Given the description of an element on the screen output the (x, y) to click on. 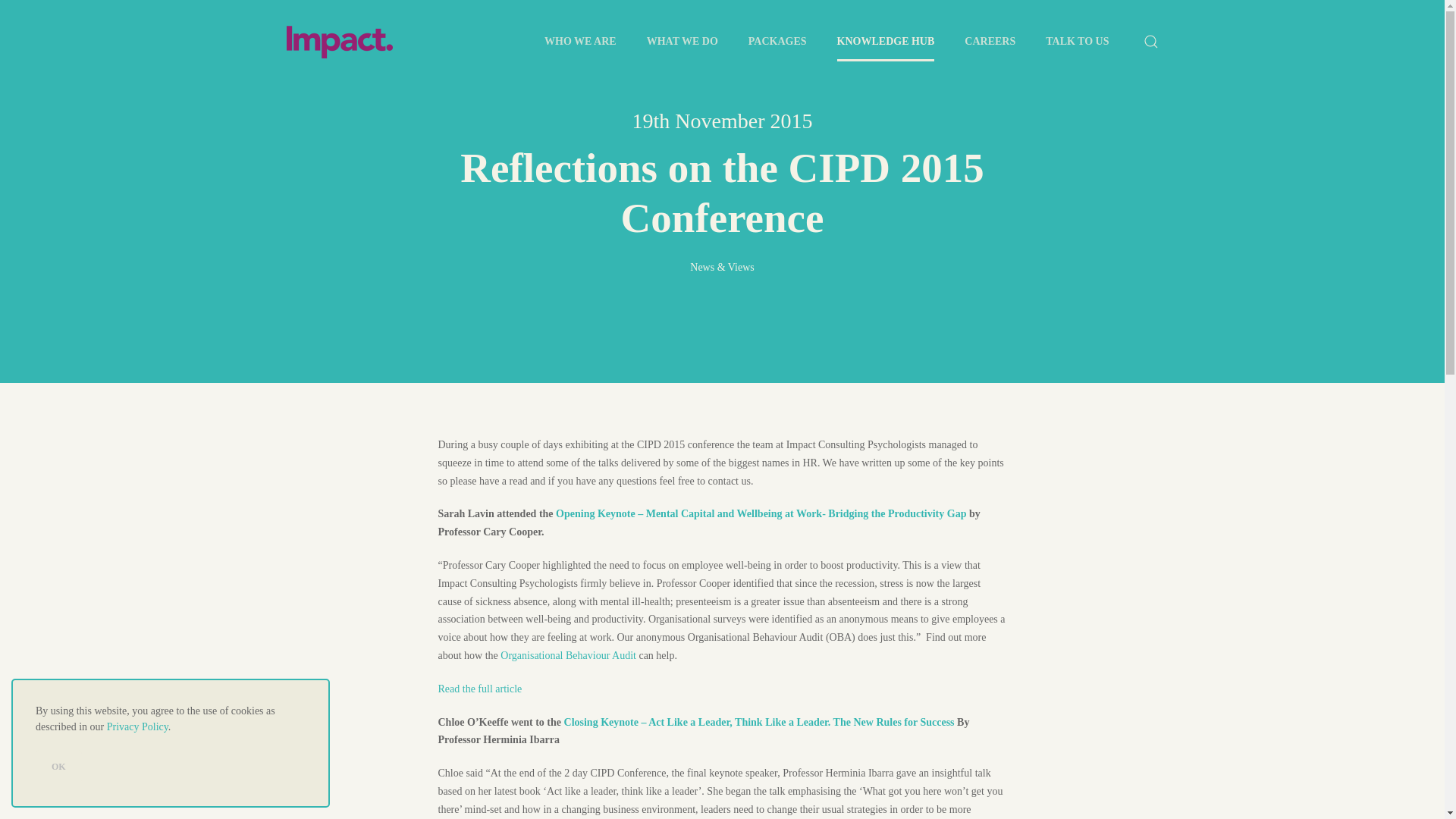
PACKAGES (777, 41)
Organisation Behaviour Audit (568, 655)
CAREERS (989, 41)
KN1 (761, 513)
WHO WE ARE (580, 41)
TALK TO US (1077, 41)
KNOWLEDGE HUB (886, 41)
KN2 (759, 722)
WHAT WE DO (682, 41)
